Given the description of an element on the screen output the (x, y) to click on. 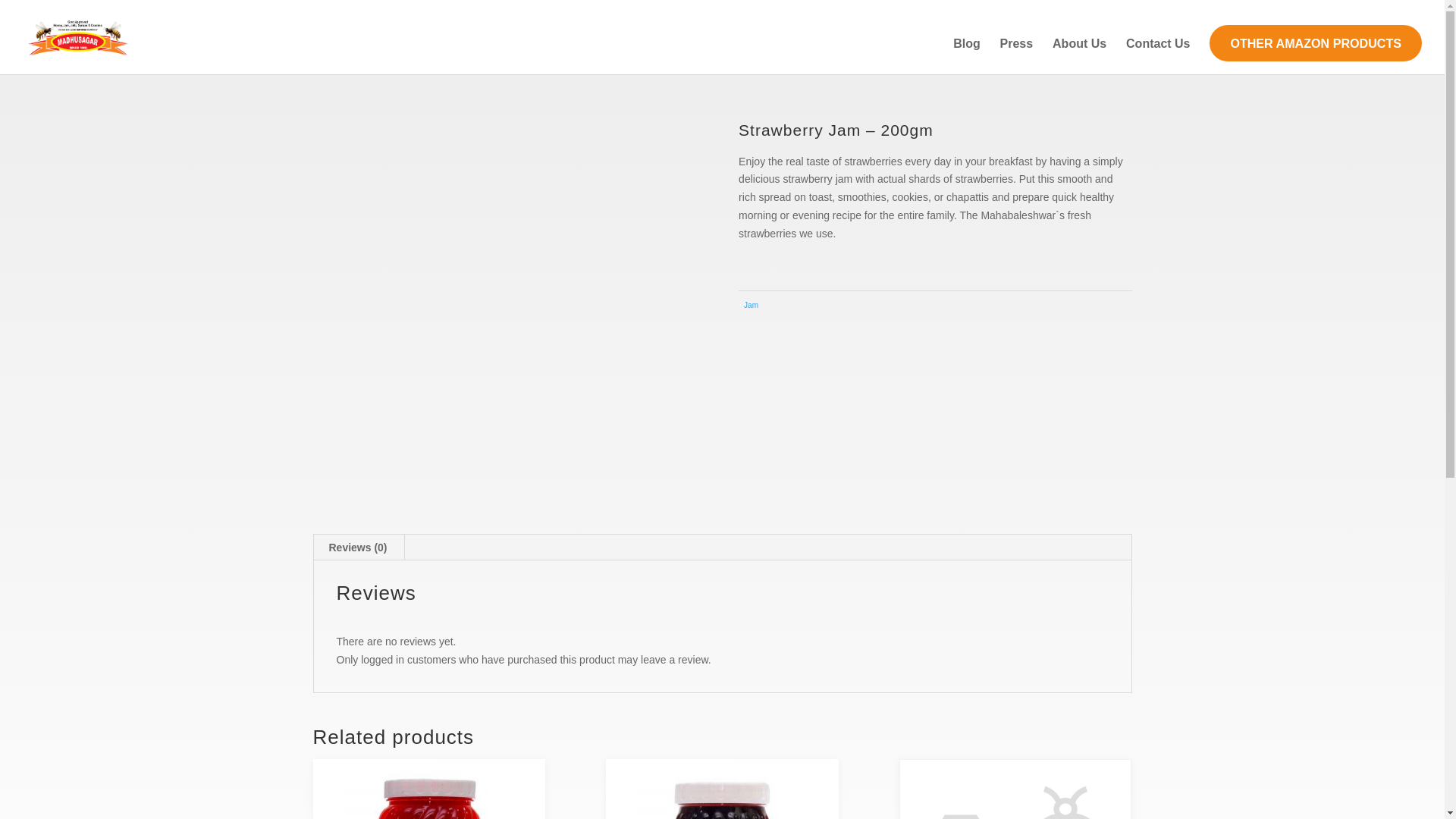
Jam (750, 305)
Press (1016, 56)
OTHER AMAZON PRODUCTS (1315, 43)
About Us (1079, 56)
Contact Us (1157, 56)
